Given the description of an element on the screen output the (x, y) to click on. 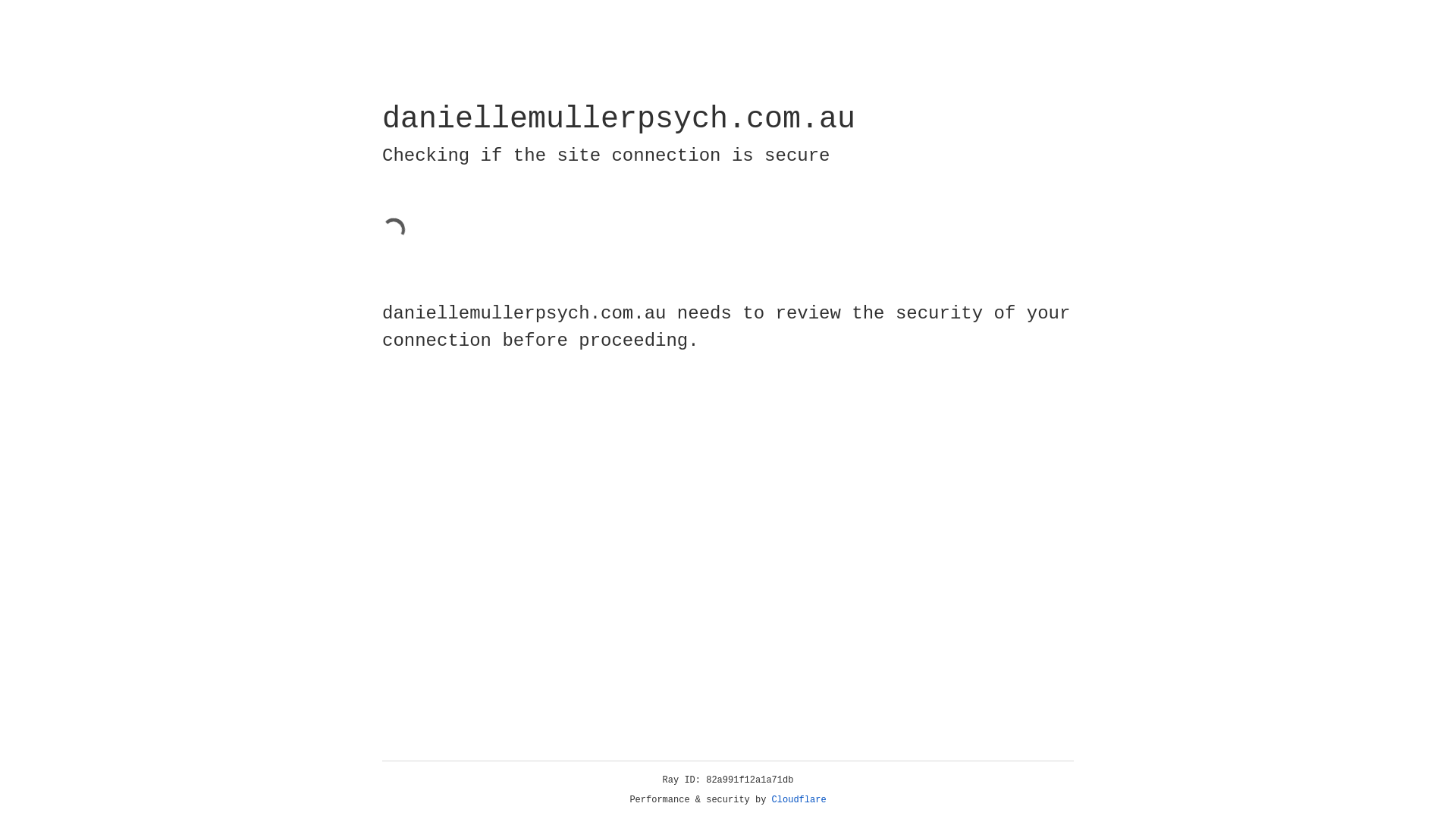
Cloudflare Element type: text (798, 799)
